Given the description of an element on the screen output the (x, y) to click on. 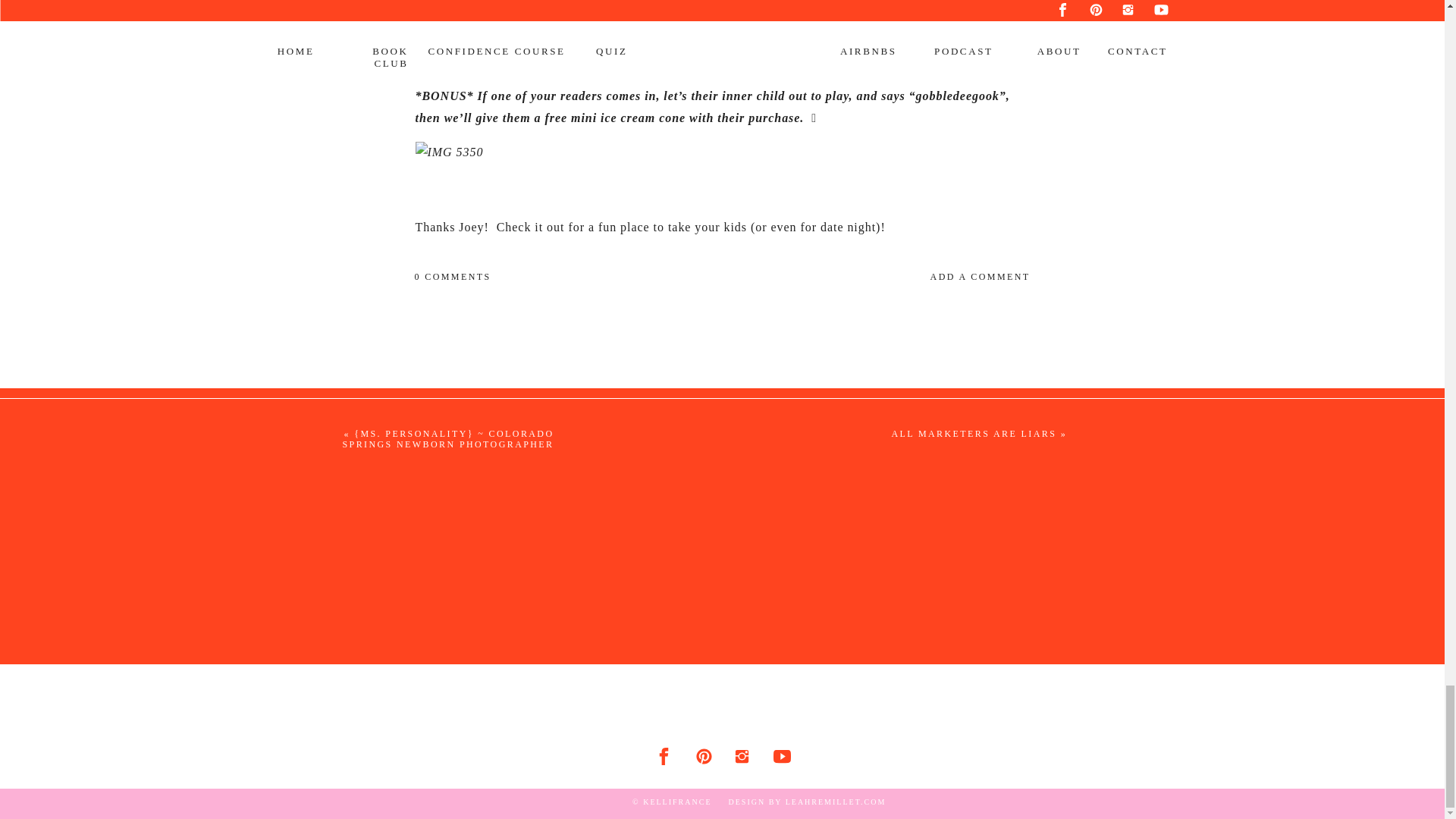
ADD A COMMENT (883, 276)
IMG 5350 (722, 152)
0 COMMENTS (451, 276)
